Given the description of an element on the screen output the (x, y) to click on. 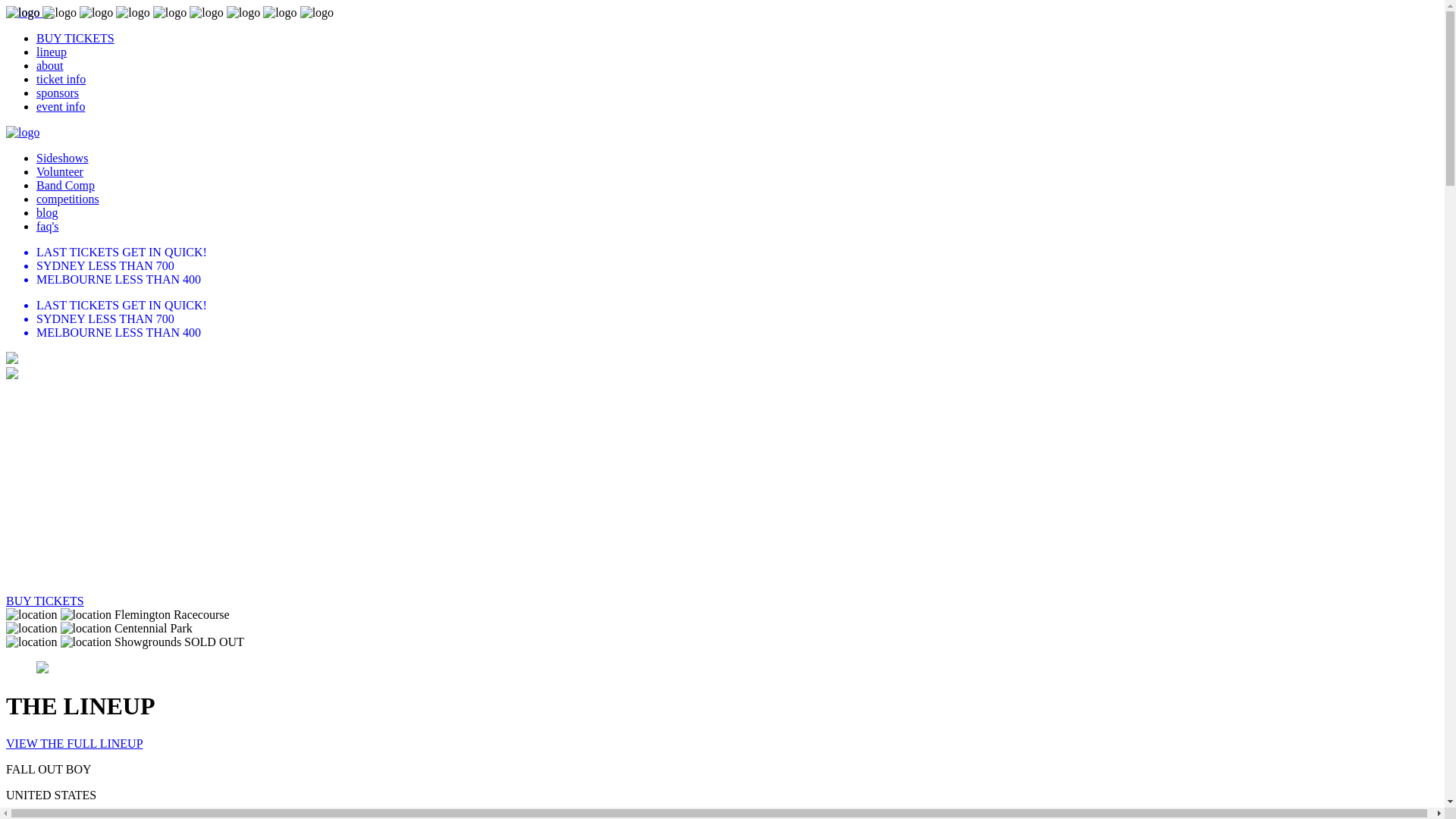
Volunteer Element type: text (59, 171)
VIEW THE FULL LINEUP Element type: text (74, 743)
ticket info Element type: text (60, 78)
competitions Element type: text (67, 198)
lineup Element type: text (51, 51)
Band Comp Element type: text (65, 184)
event info Element type: text (60, 106)
Sideshows Element type: text (61, 157)
sponsors Element type: text (57, 92)
faq's Element type: text (47, 225)
BUY TICKETS Element type: text (45, 600)
about Element type: text (49, 65)
blog Element type: text (46, 212)
BUY TICKETS Element type: text (75, 37)
